Given the description of an element on the screen output the (x, y) to click on. 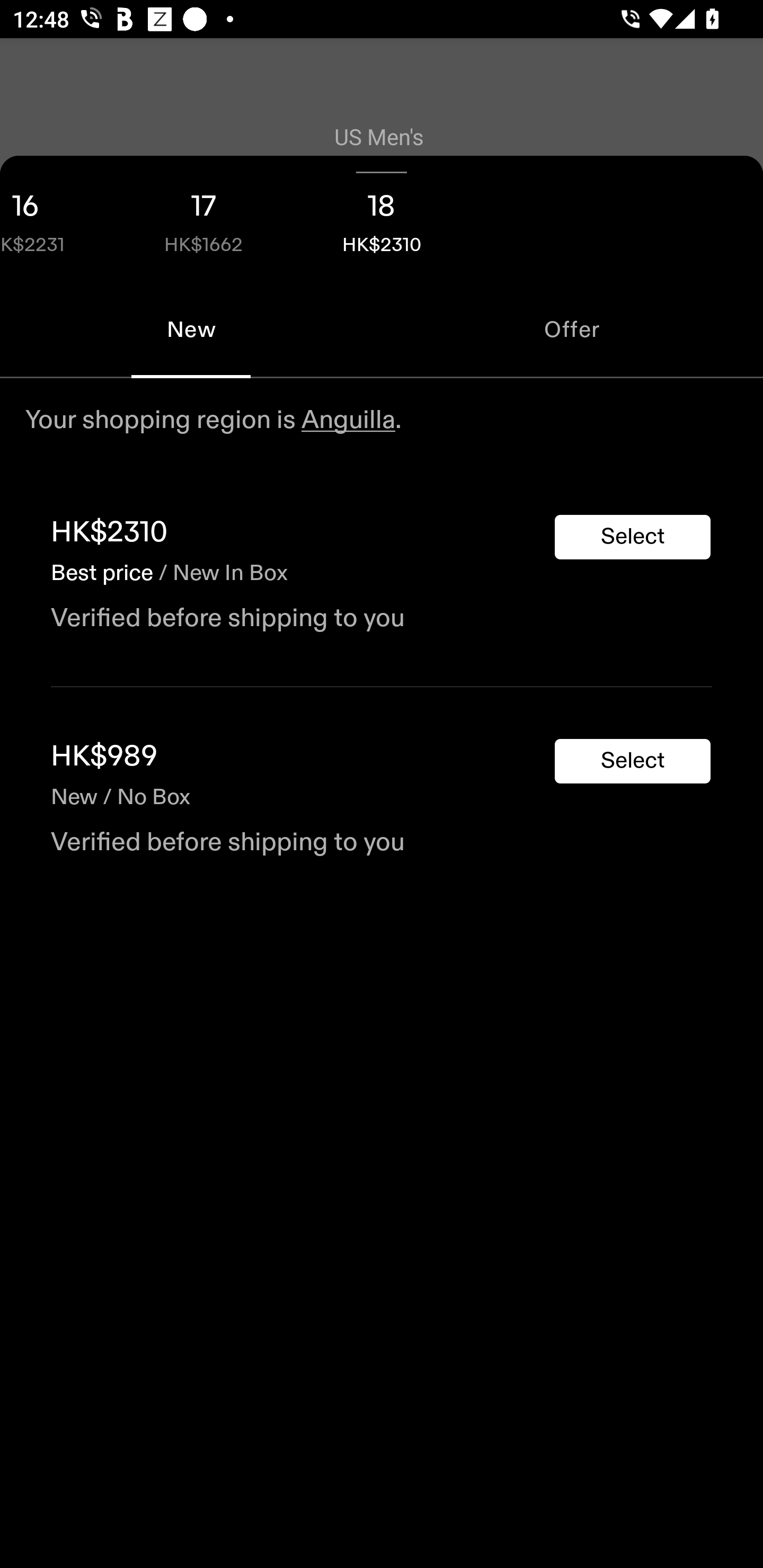
16 HK$2231 (57, 218)
17 HK$1662 (203, 218)
18 HK$2310 (381, 218)
Offer (572, 329)
Select (632, 536)
Select (632, 760)
